Given the description of an element on the screen output the (x, y) to click on. 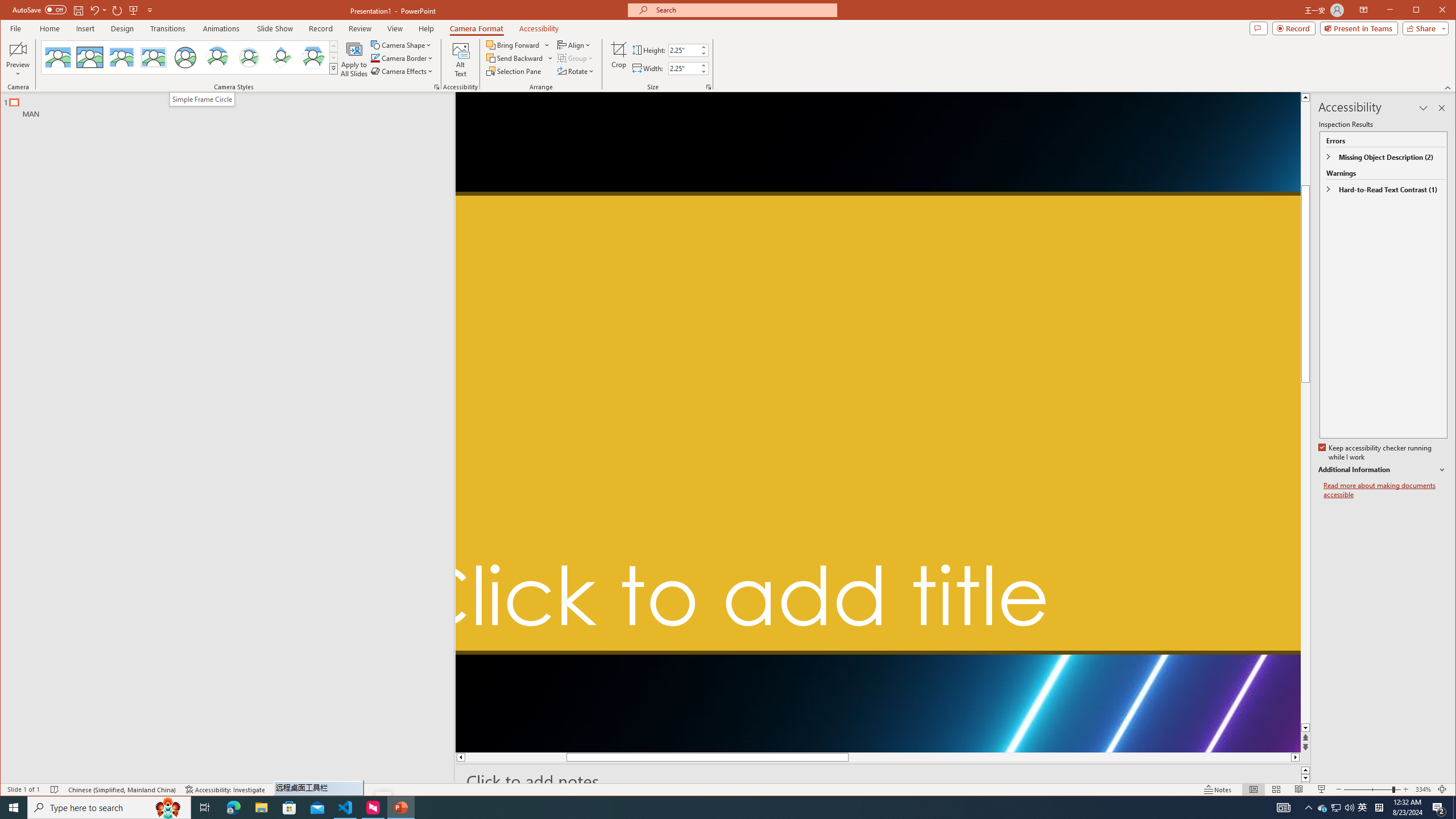
Cameo Height (683, 50)
Bring Forward (513, 44)
